Given the description of an element on the screen output the (x, y) to click on. 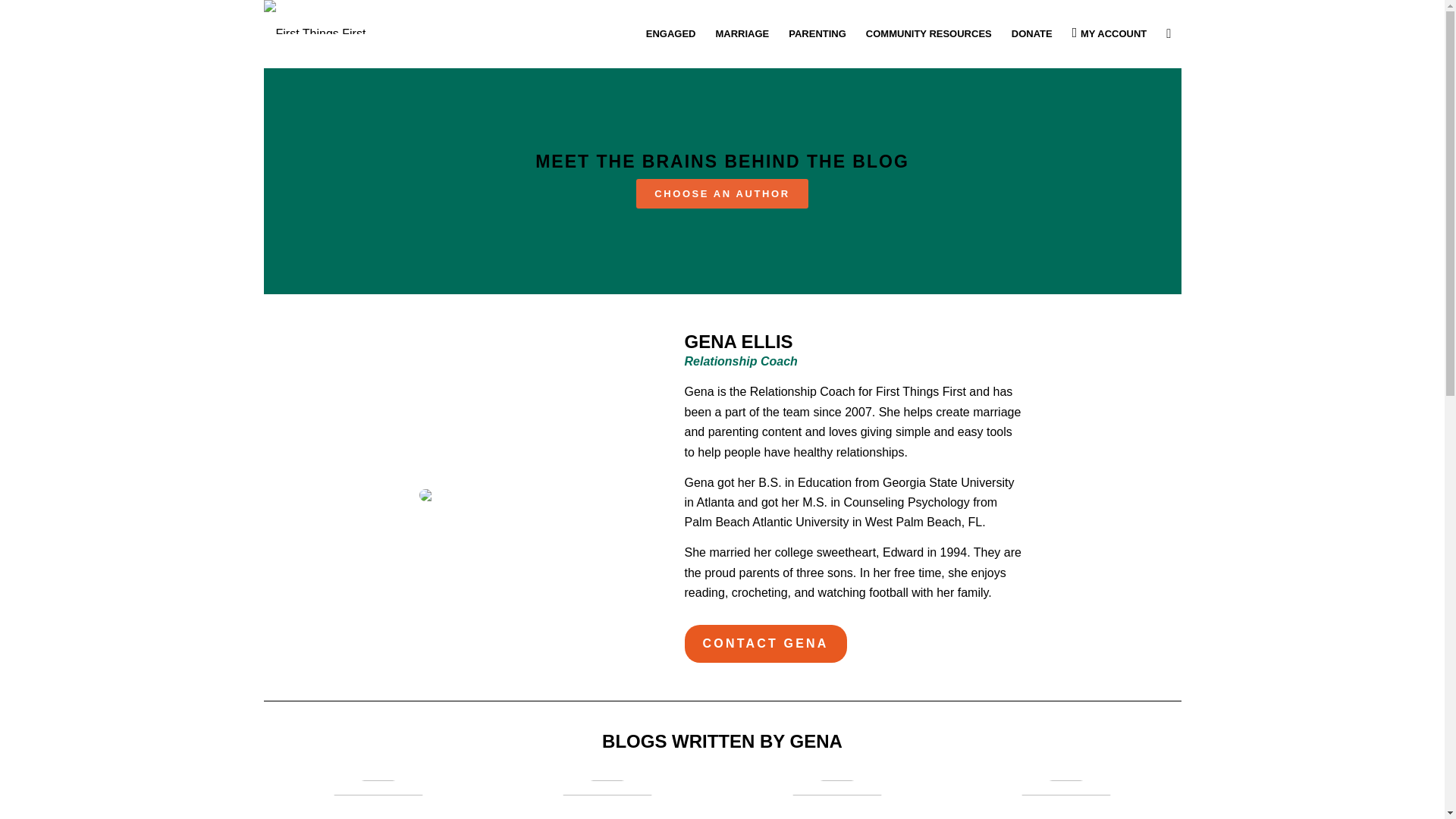
MARRIAGE (741, 33)
ANNA REEVES MCCUTCHEON (721, 231)
ENGAGED (671, 33)
COMMUNITY RESOURCES (928, 33)
CONTACT GENA (764, 643)
PARENTING (817, 33)
DONATE (1031, 33)
MY ACCOUNT (1109, 33)
